Given the description of an element on the screen output the (x, y) to click on. 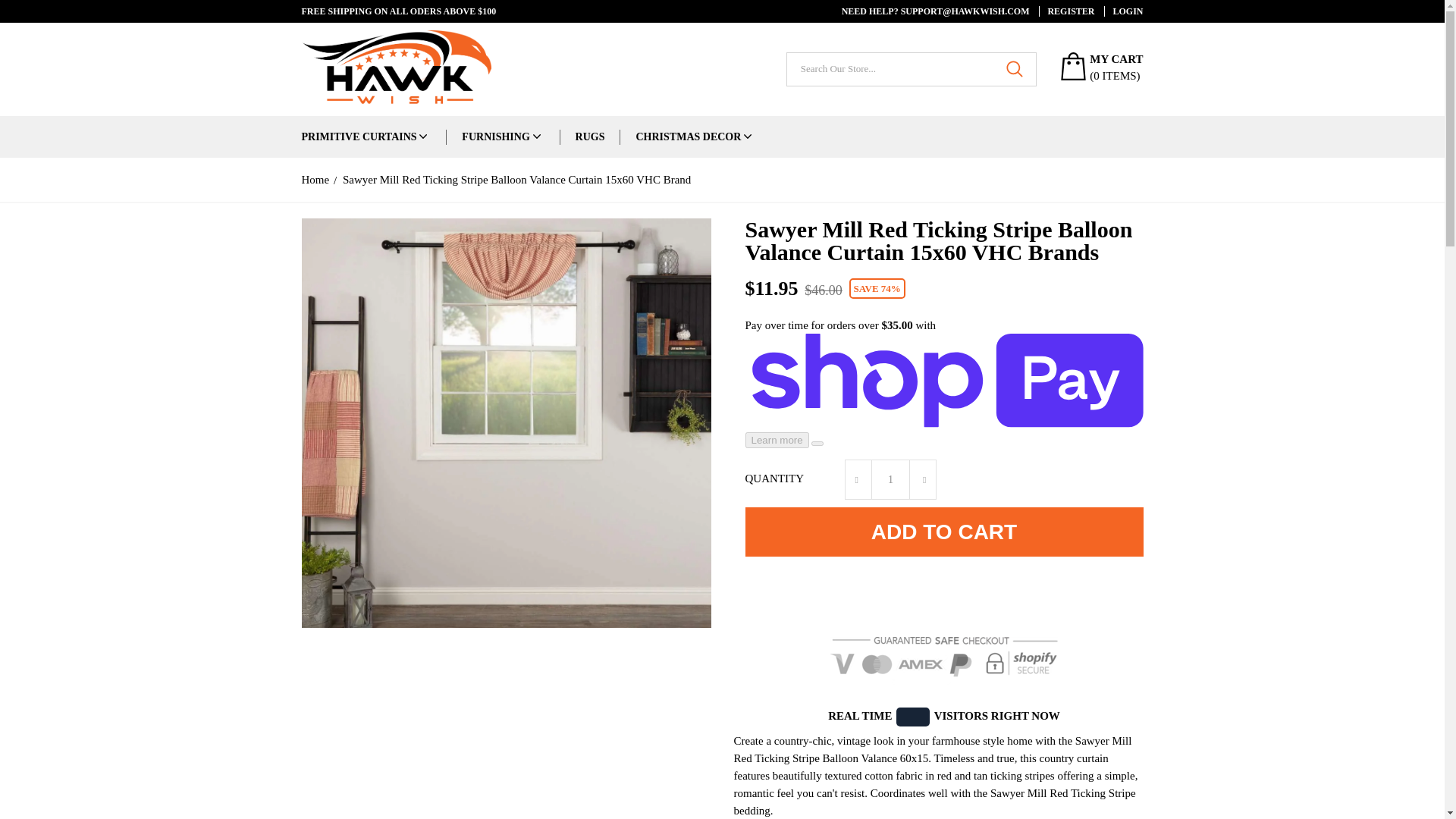
RUGS (590, 136)
CHRISTMAS DECOR (687, 136)
LOGIN (1122, 10)
FURNISHING (495, 136)
REGISTER (1066, 10)
PRIMITIVE CURTAINS (358, 136)
1 (890, 479)
